Given the description of an element on the screen output the (x, y) to click on. 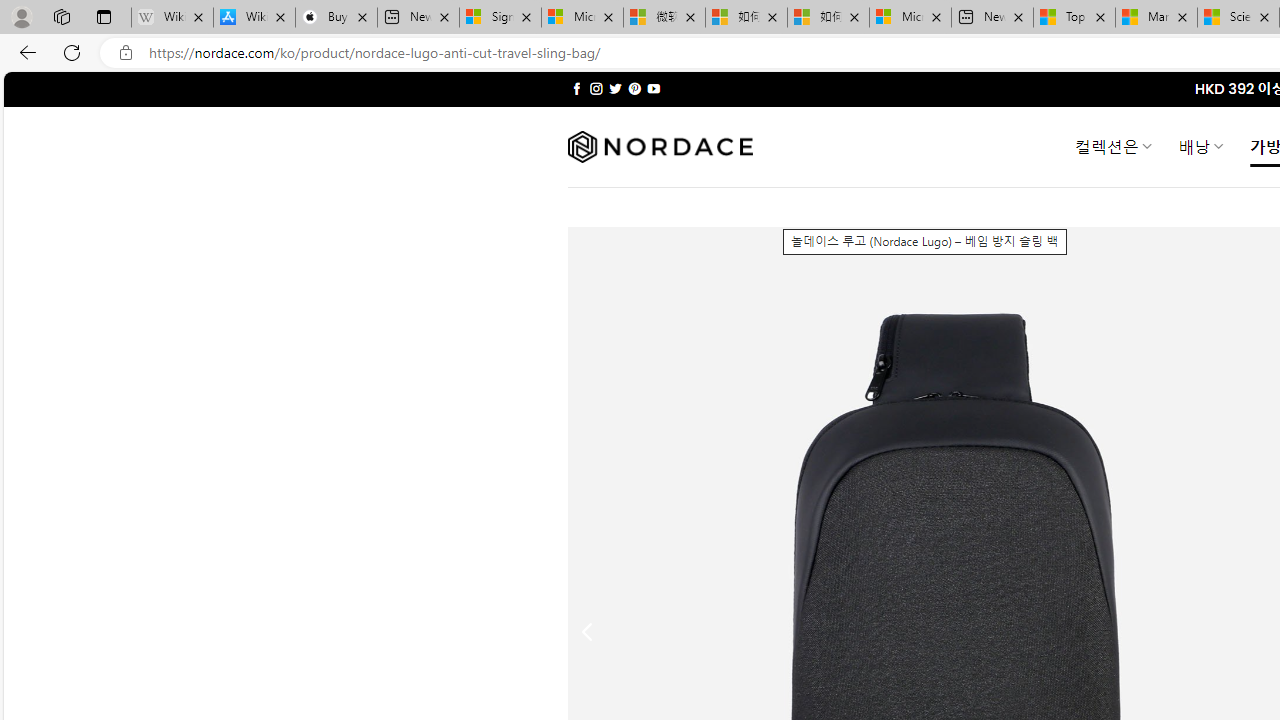
Follow on Twitter (615, 88)
Follow on Facebook (576, 88)
